Given the description of an element on the screen output the (x, y) to click on. 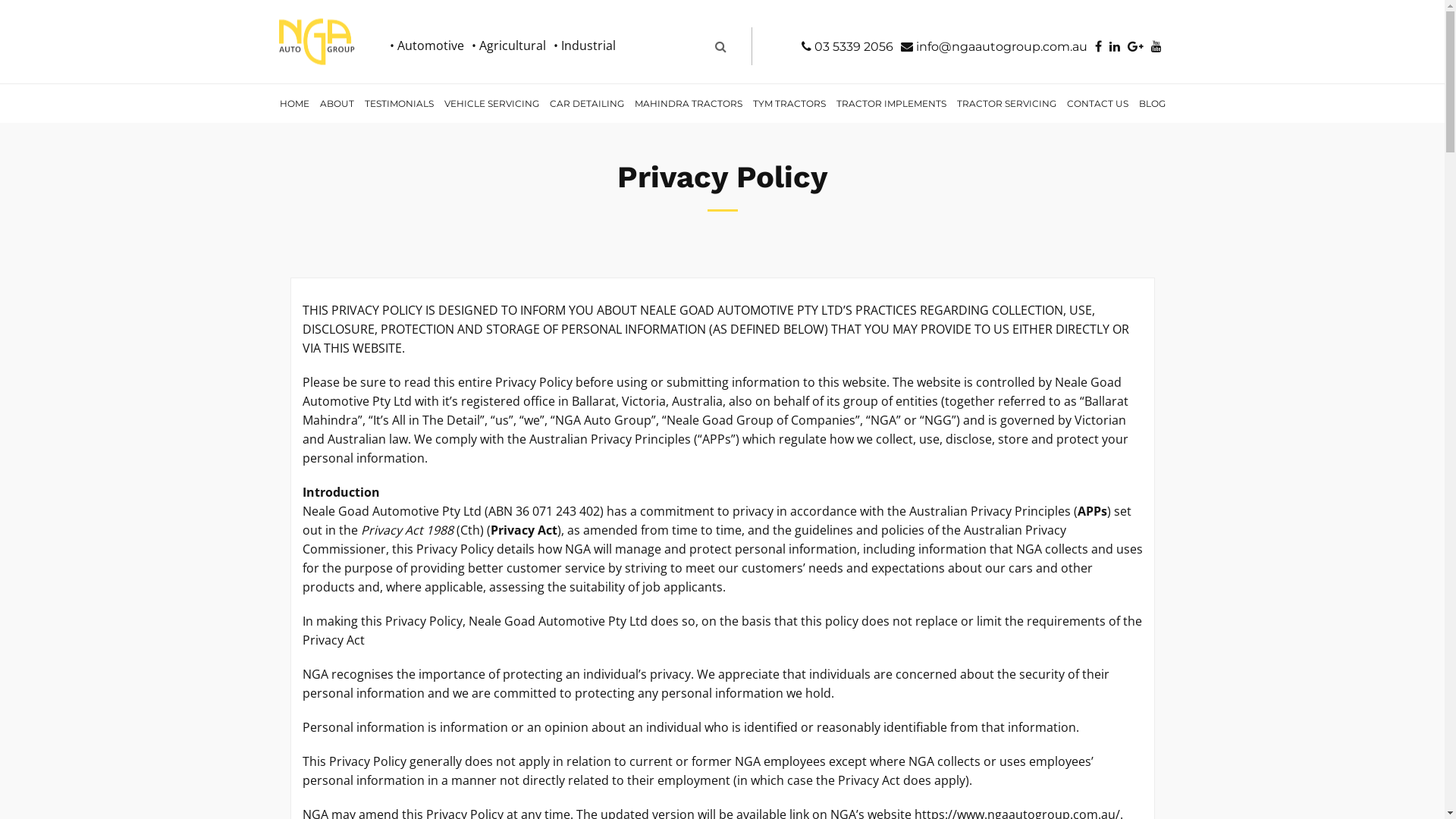
Find us on Facebook Element type: hover (1098, 46)
MAHINDRA TRACTORS Element type: text (688, 103)
Find us on Google Plus Element type: hover (1135, 46)
VEHICLE SERVICING Element type: text (490, 103)
BLOG Element type: text (1151, 103)
TYM TRACTORS Element type: text (789, 103)
ABOUT Element type: text (335, 103)
CAR DETAILING Element type: text (586, 103)
HOME Element type: text (294, 103)
CONTACT US Element type: text (1097, 103)
TRACTOR SERVICING Element type: text (1005, 103)
Connect with us on Linkedin Element type: hover (1114, 46)
info@ngaautogroup.com.au Element type: text (993, 46)
Subscribe to us on Youtube Element type: hover (1156, 46)
TRACTOR IMPLEMENTS Element type: text (891, 103)
03 5339 2056 Element type: text (847, 46)
TESTIMONIALS Element type: text (399, 103)
